Given the description of an element on the screen output the (x, y) to click on. 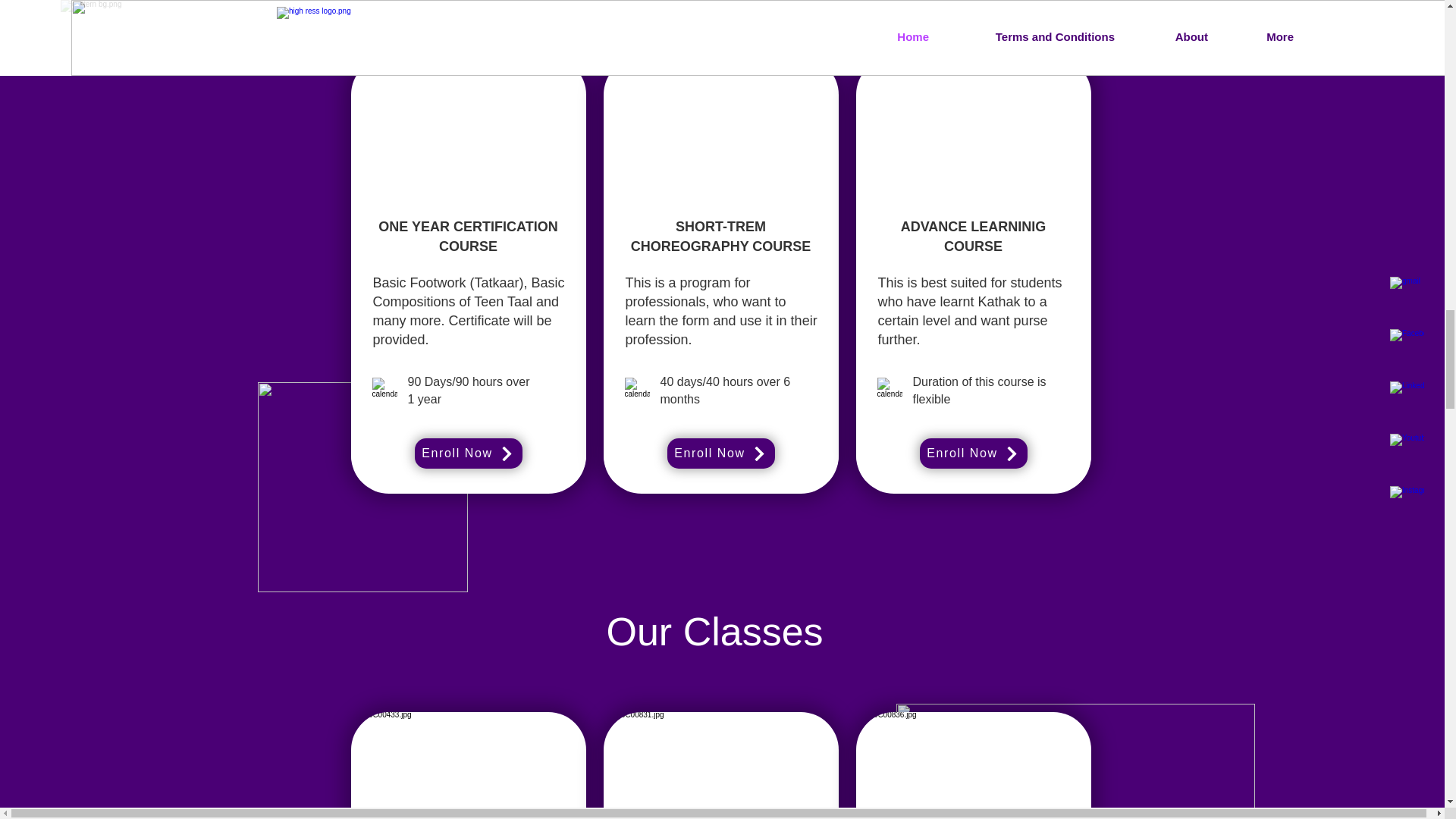
Enroll Now (467, 453)
Enroll Now (972, 453)
rangoli 1.png (1075, 761)
Enroll Now (720, 453)
